Given the description of an element on the screen output the (x, y) to click on. 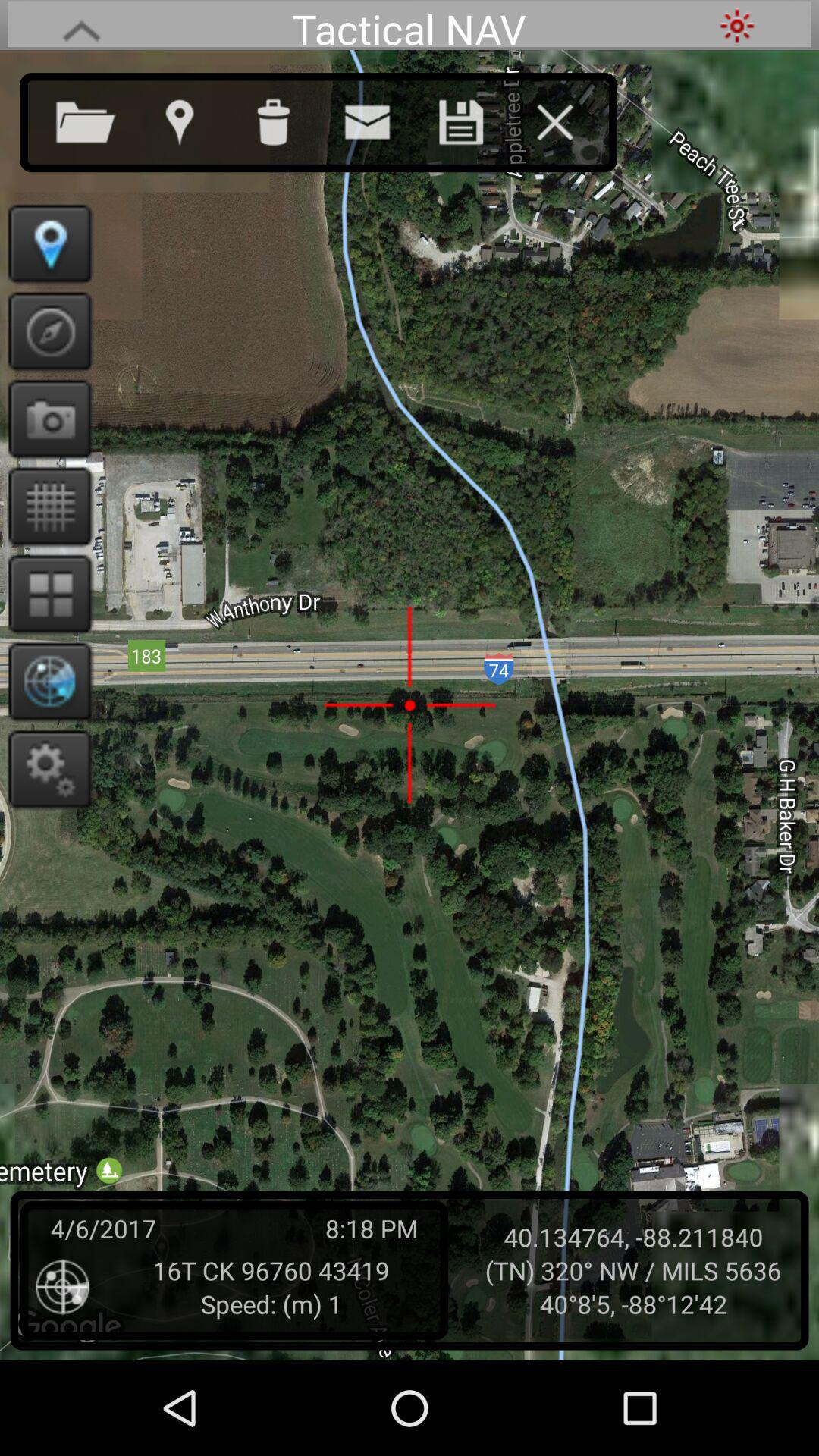
exit (570, 119)
